Given the description of an element on the screen output the (x, y) to click on. 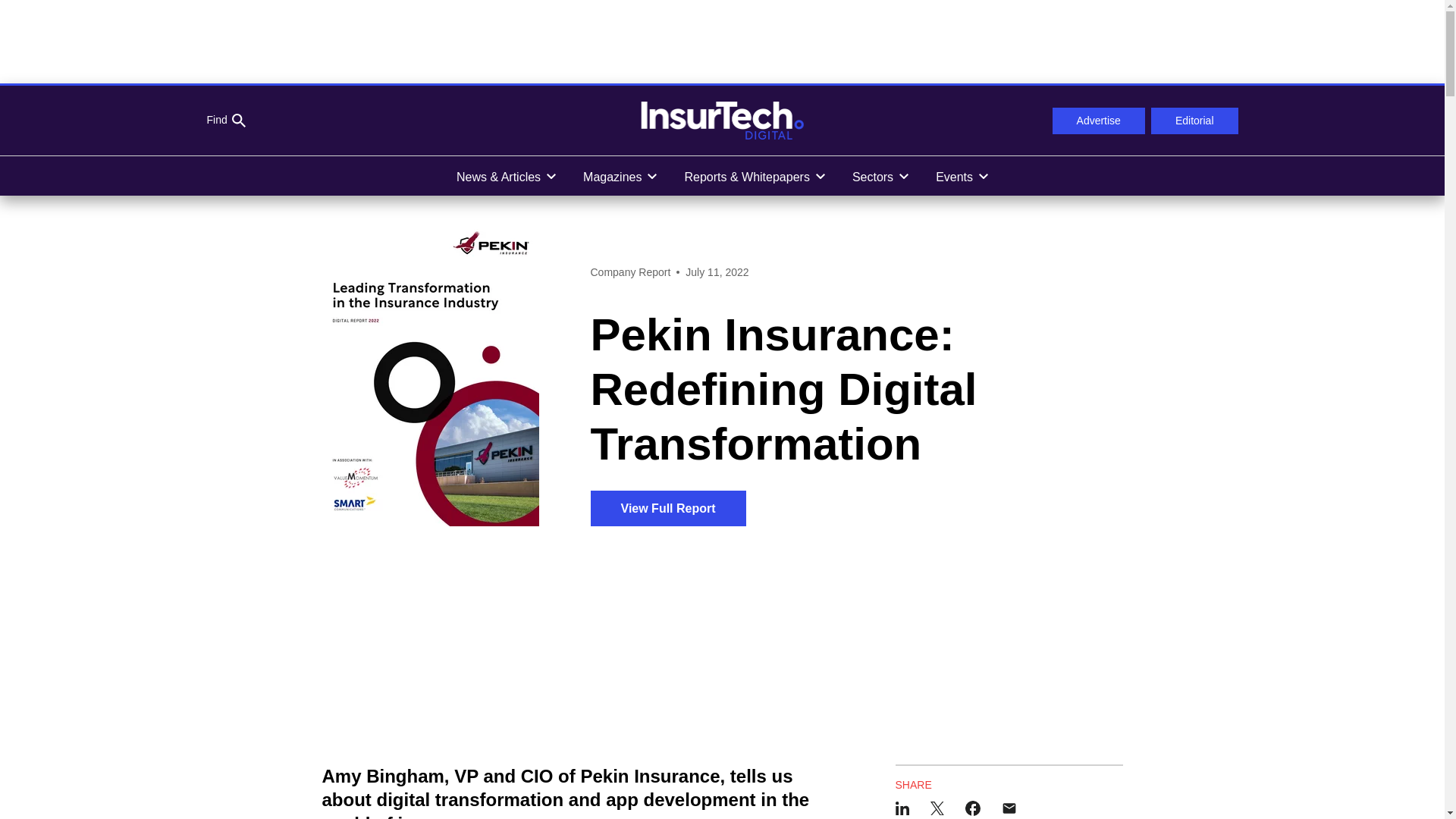
Editorial (1195, 121)
Sectors (879, 175)
Advertise (1098, 121)
Magazines (619, 175)
Find (225, 120)
Events (961, 175)
